Given the description of an element on the screen output the (x, y) to click on. 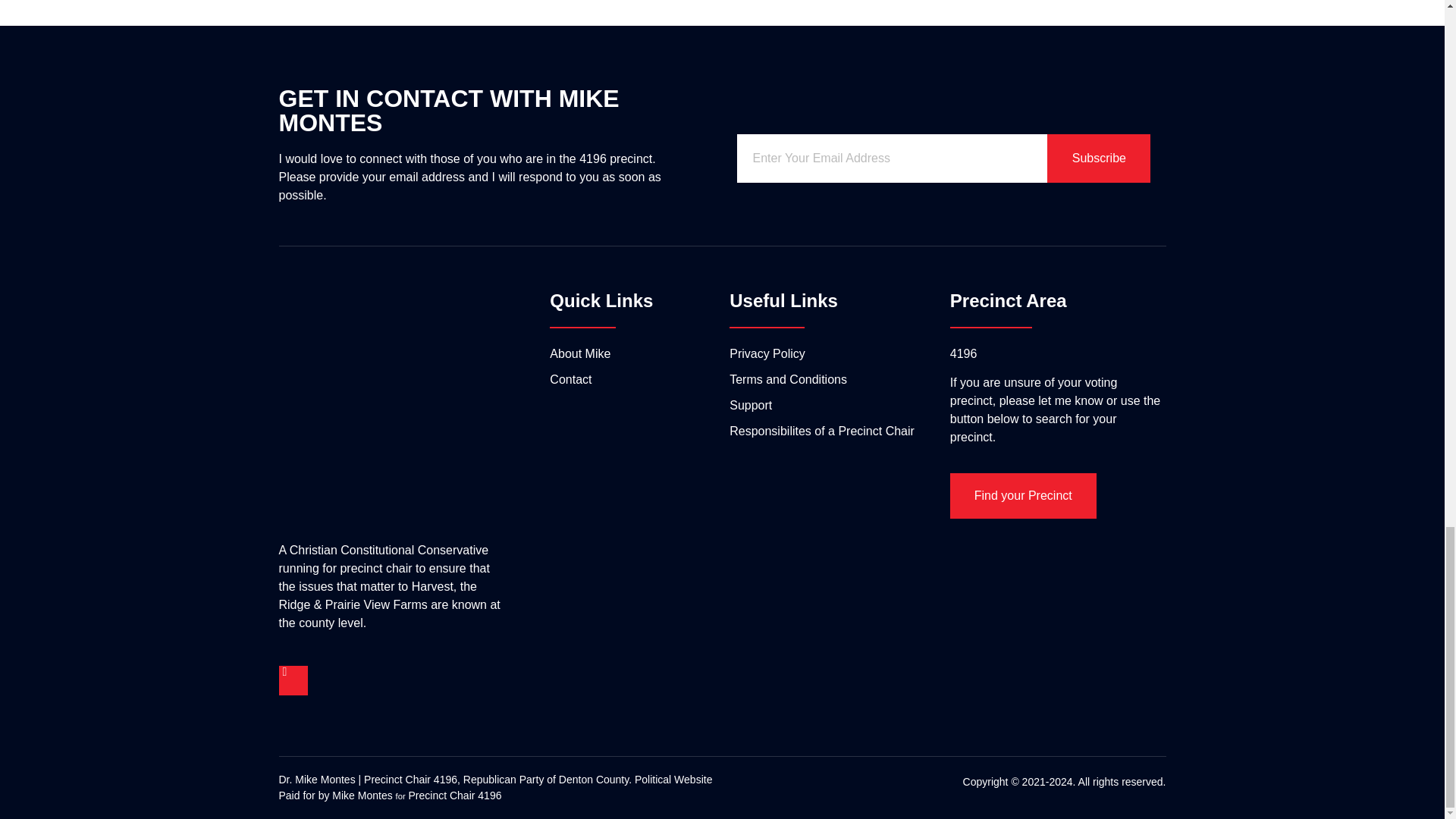
Responsibilites of a Precinct Chair (828, 431)
About Mike (636, 353)
Find your Precinct (1023, 495)
Support (828, 405)
Privacy Policy (828, 353)
Subscribe (1098, 158)
Terms and Conditions (828, 380)
Contact (636, 380)
